Given the description of an element on the screen output the (x, y) to click on. 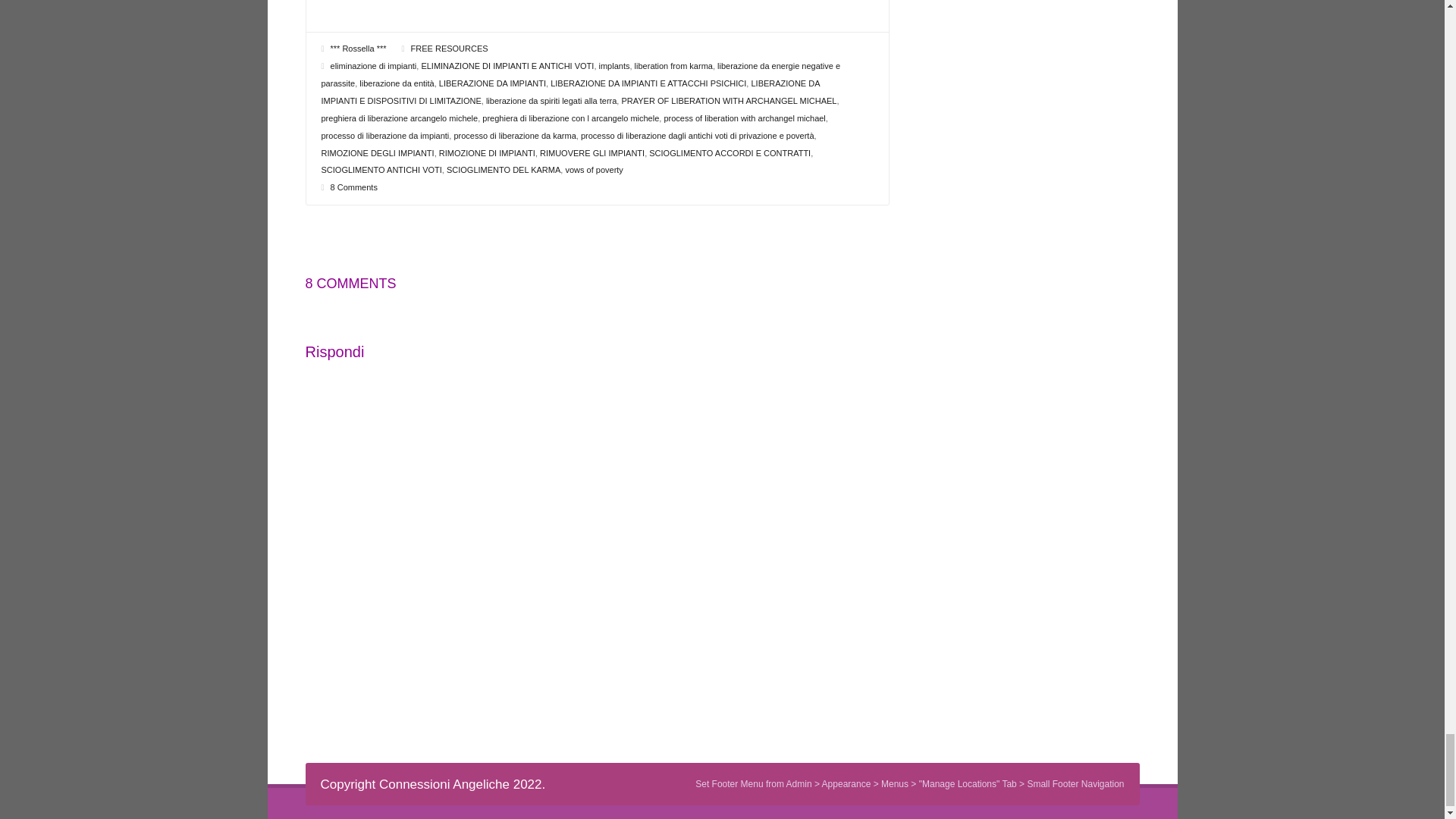
SCIOGLIMENTO ANTICHI VOTI (381, 169)
preghiera di liberazione con l arcangelo michele (570, 117)
PRAYER OF LIBERATION WITH ARCHANGEL MICHAEL (728, 100)
liberation from karma (673, 65)
LIBERAZIONE DA IMPIANTI (492, 82)
ELIMINAZIONE DI IMPIANTI E ANTICHI VOTI (507, 65)
processo di liberazione da karma (513, 135)
SCIOGLIMENTO ACCORDI E CONTRATTI (729, 152)
LIBERAZIONE DA IMPIANTI E ATTACCHI PSICHICI (647, 82)
